Given the description of an element on the screen output the (x, y) to click on. 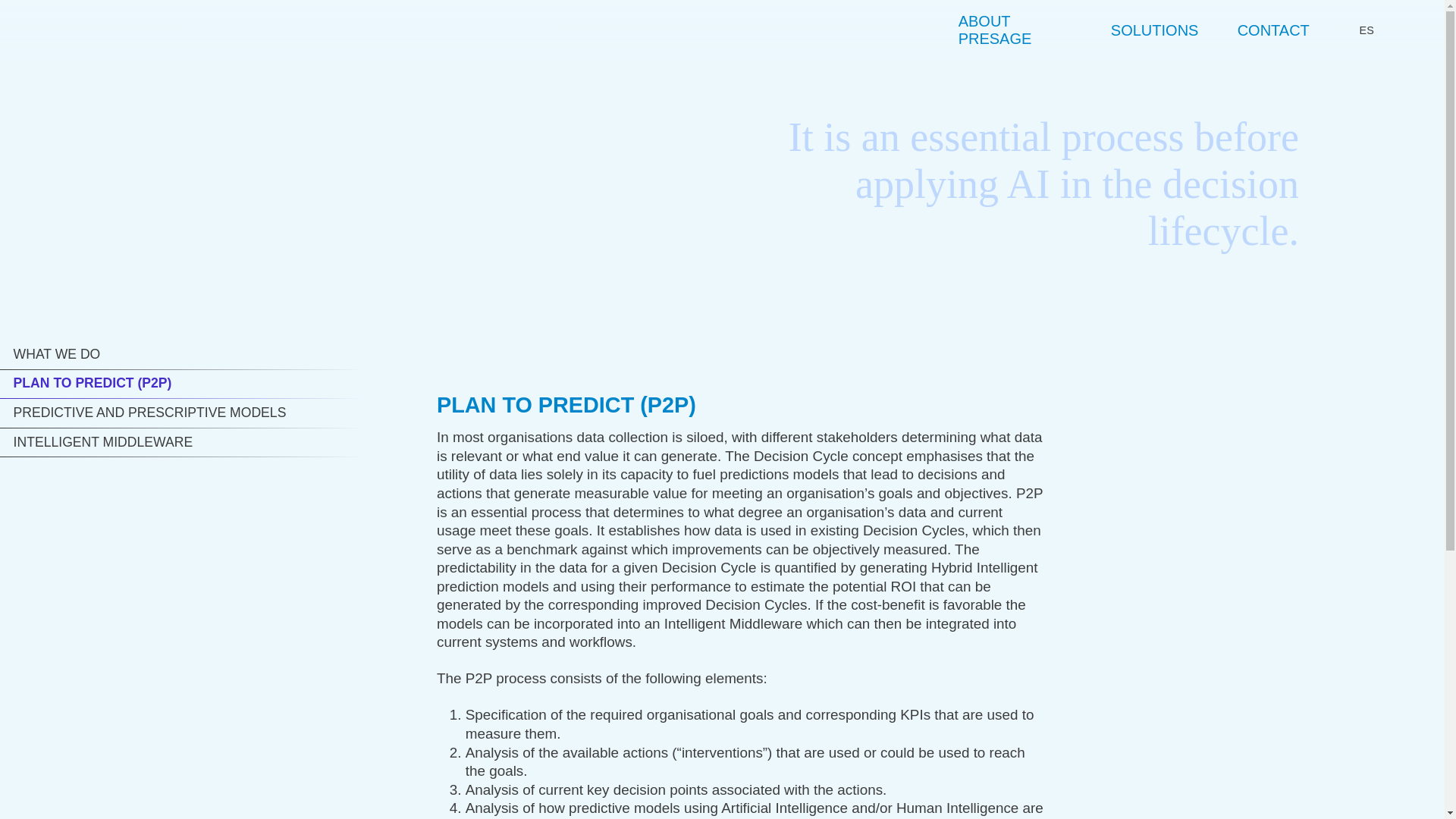
Presage Research (149, 30)
WHAT WE DO (182, 354)
INTELLIGENT MIDDLEWARE (182, 442)
CONTACT (1272, 30)
SOLUTIONS (1154, 30)
PREDICTIVE AND PRESCRIPTIVE MODELS (182, 412)
ABOUT PRESAGE (1015, 30)
ES (1353, 30)
